Given the description of an element on the screen output the (x, y) to click on. 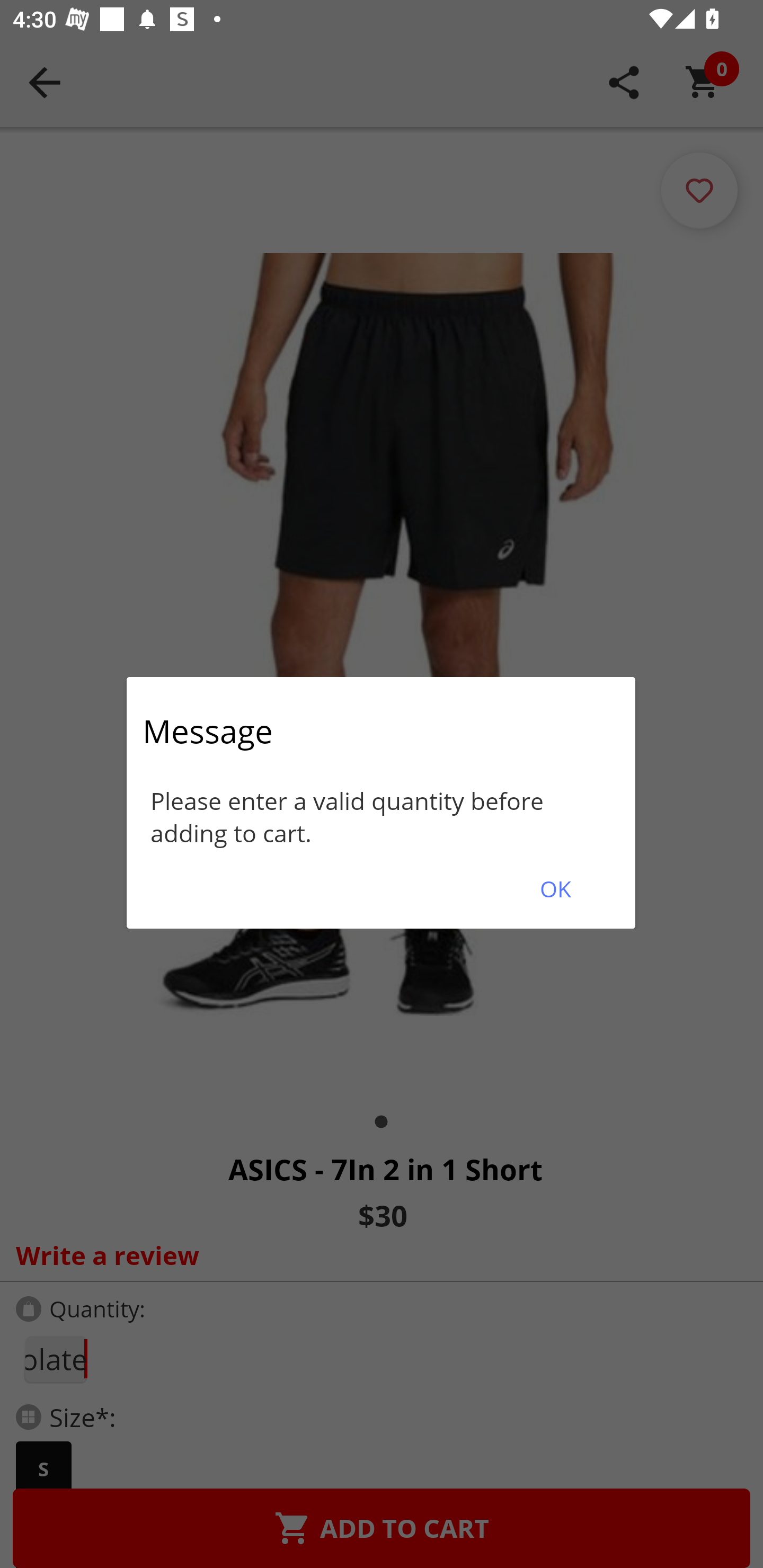
OK (555, 888)
